Given the description of an element on the screen output the (x, y) to click on. 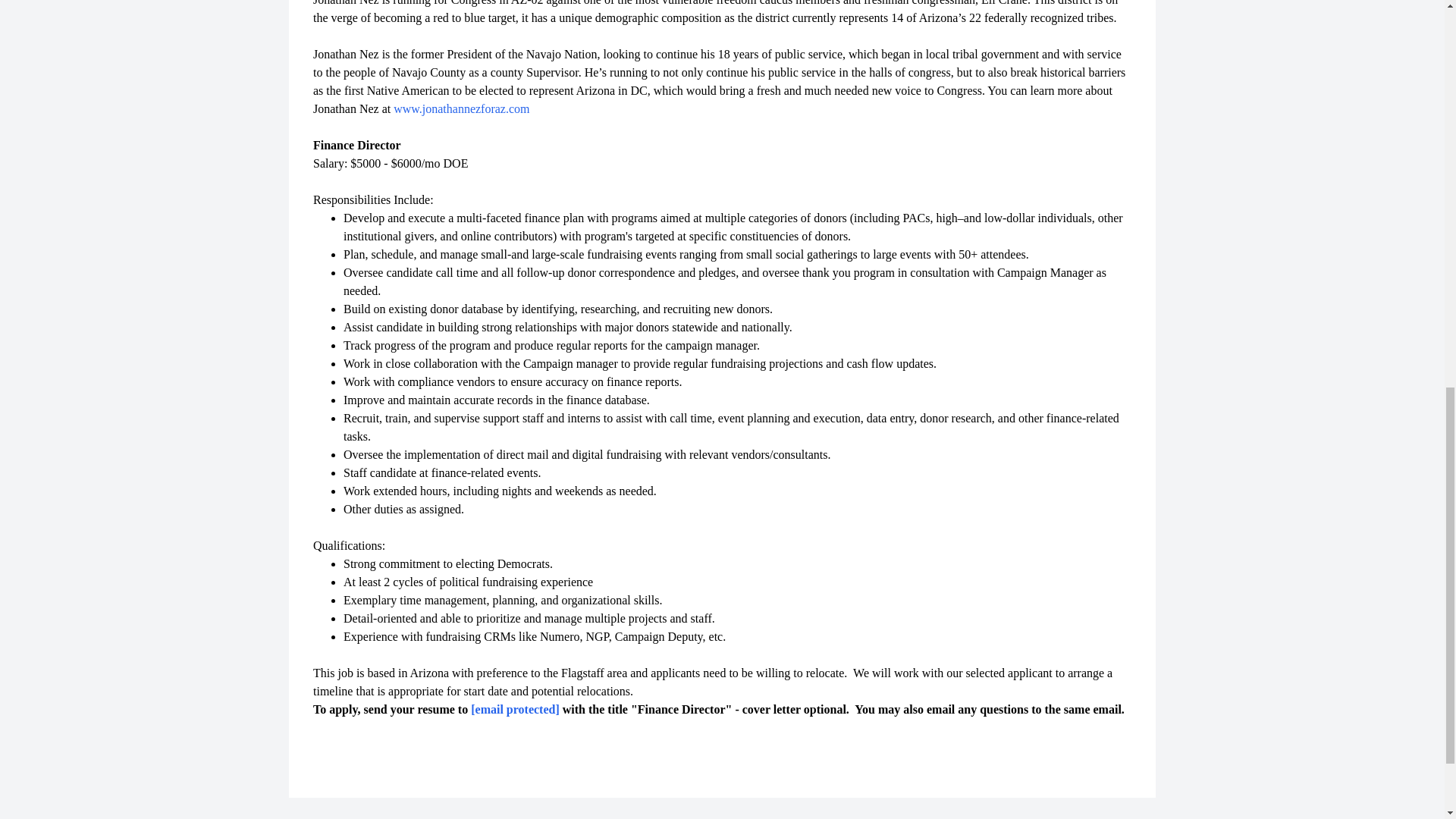
www.jonathannezforaz.com (461, 108)
